Given the description of an element on the screen output the (x, y) to click on. 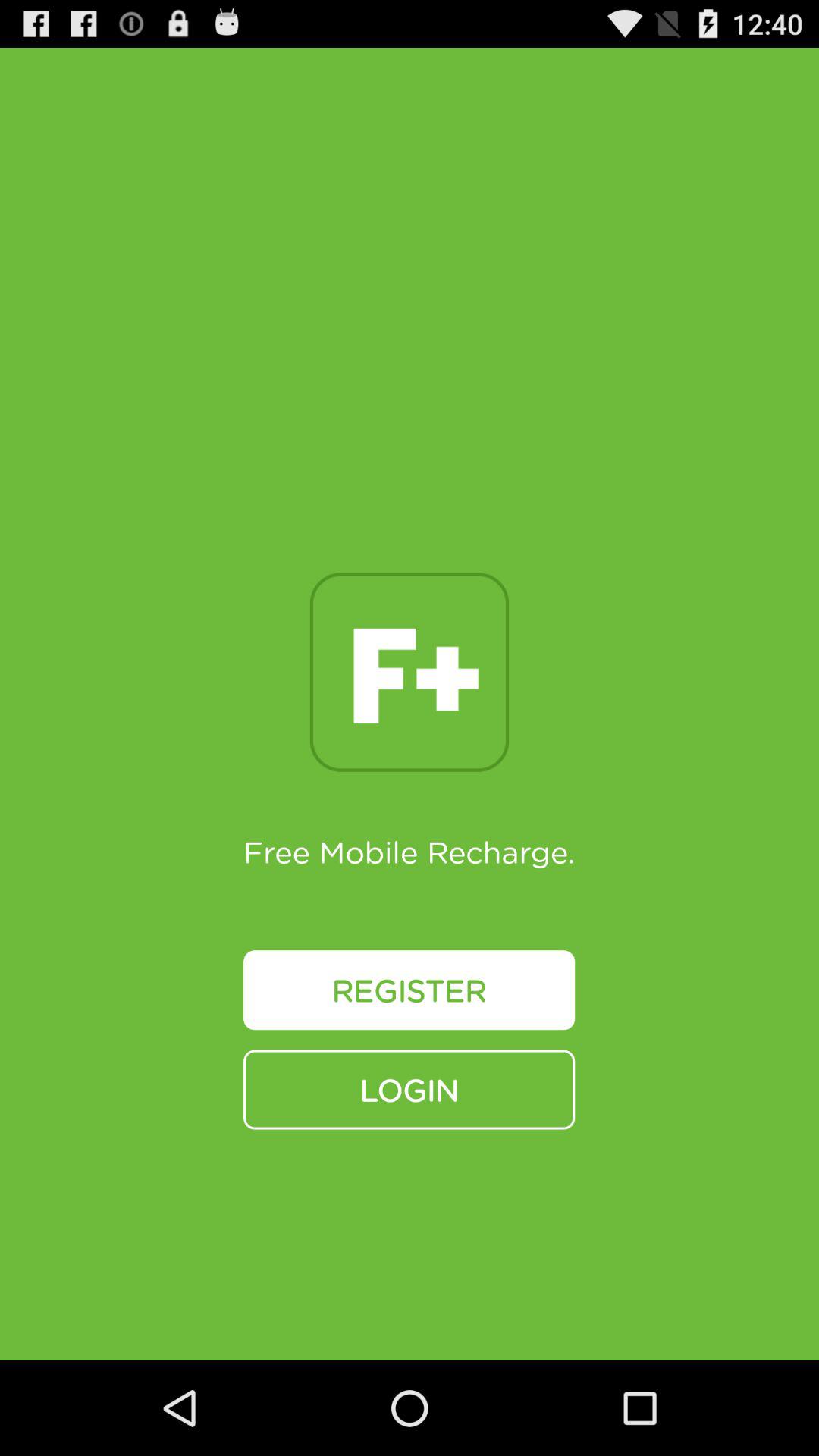
choose login button (409, 1089)
